Given the description of an element on the screen output the (x, y) to click on. 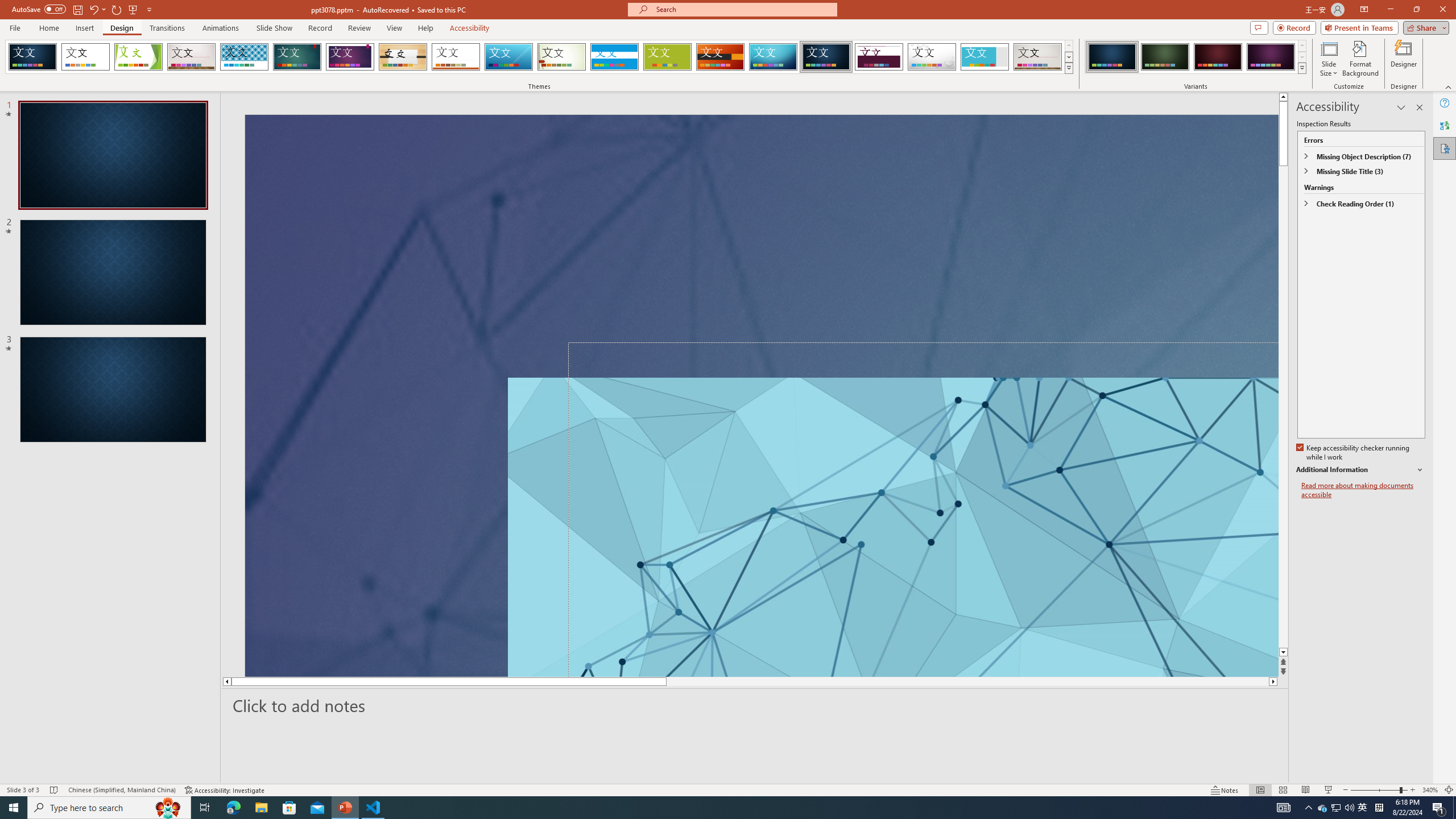
Damask Variant 3 (1217, 56)
Page down (1283, 406)
Ion Boardroom (350, 56)
Berlin (720, 56)
Facet (138, 56)
Variants (1301, 67)
AutomationID: SlideThemesGallery (539, 56)
